Given the description of an element on the screen output the (x, y) to click on. 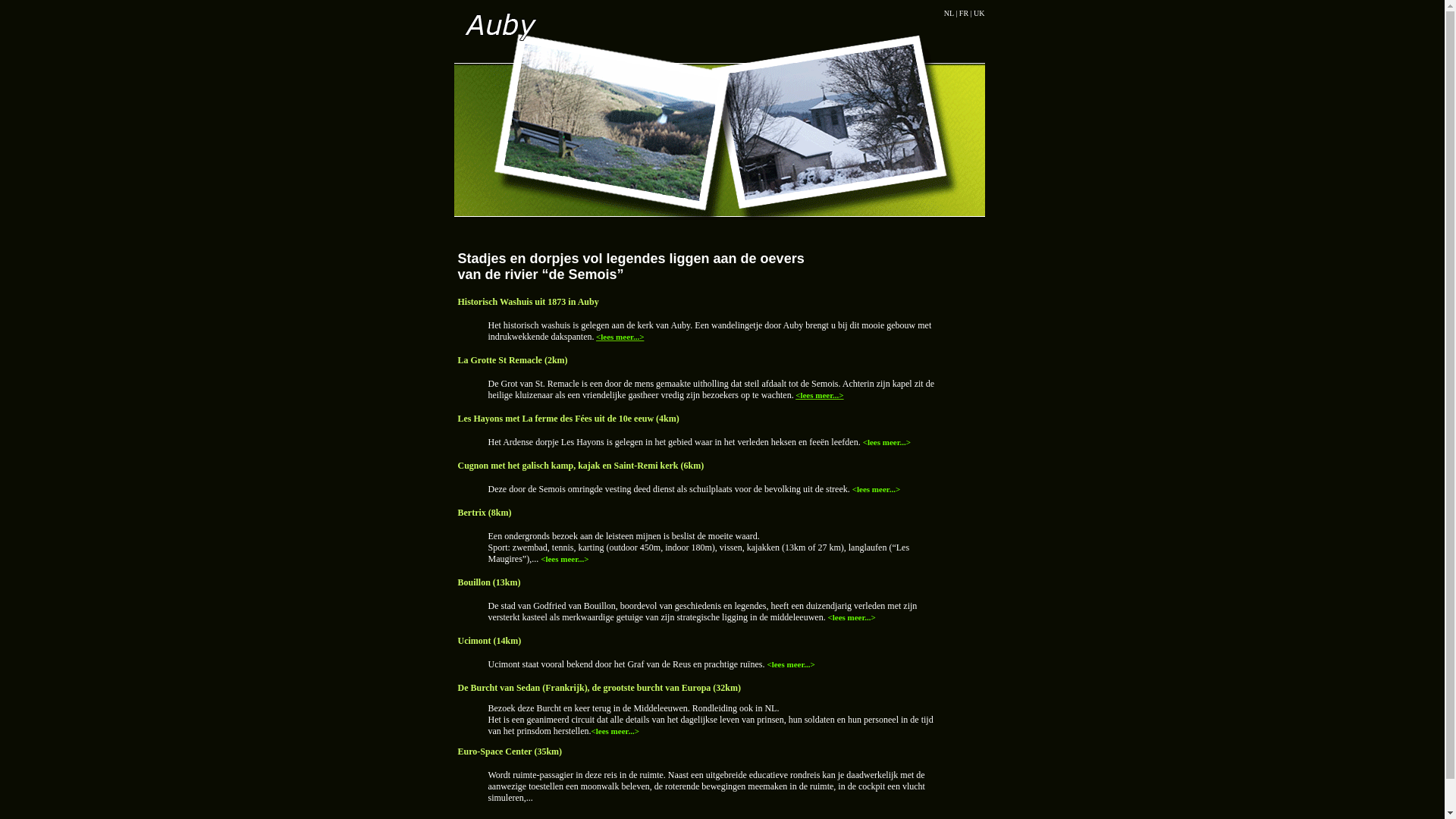
<lees meer...> Element type: text (614, 730)
<lees meer...> Element type: text (619, 336)
<lees meer...> Element type: text (876, 488)
<lees meer...> Element type: text (790, 663)
<lees meer...> Element type: text (564, 558)
<lees meer...> Element type: text (819, 394)
<lees meer...> Element type: text (886, 441)
<lees meer...> Element type: text (850, 616)
